Given the description of an element on the screen output the (x, y) to click on. 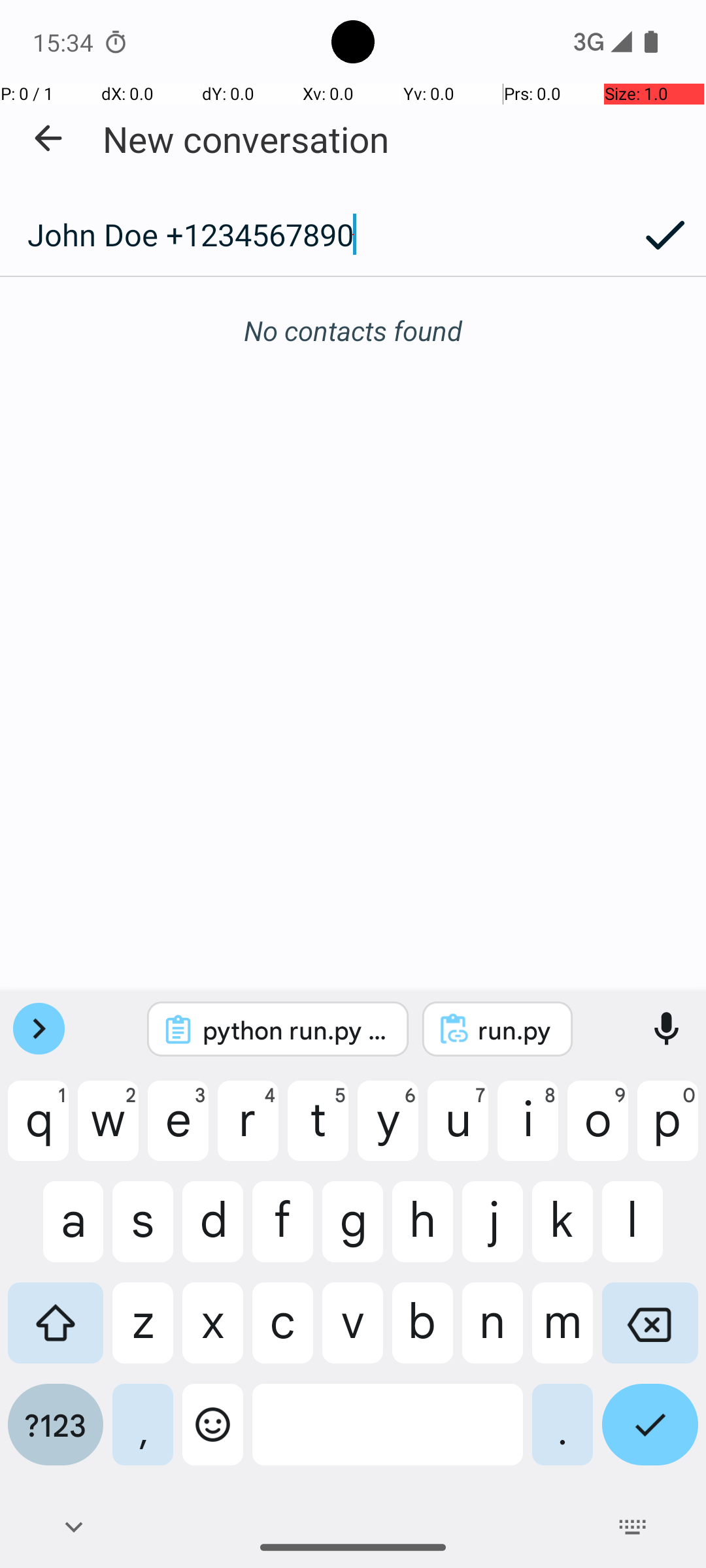
John Doe +1234567890 Element type: android.widget.EditText (311, 234)
